Given the description of an element on the screen output the (x, y) to click on. 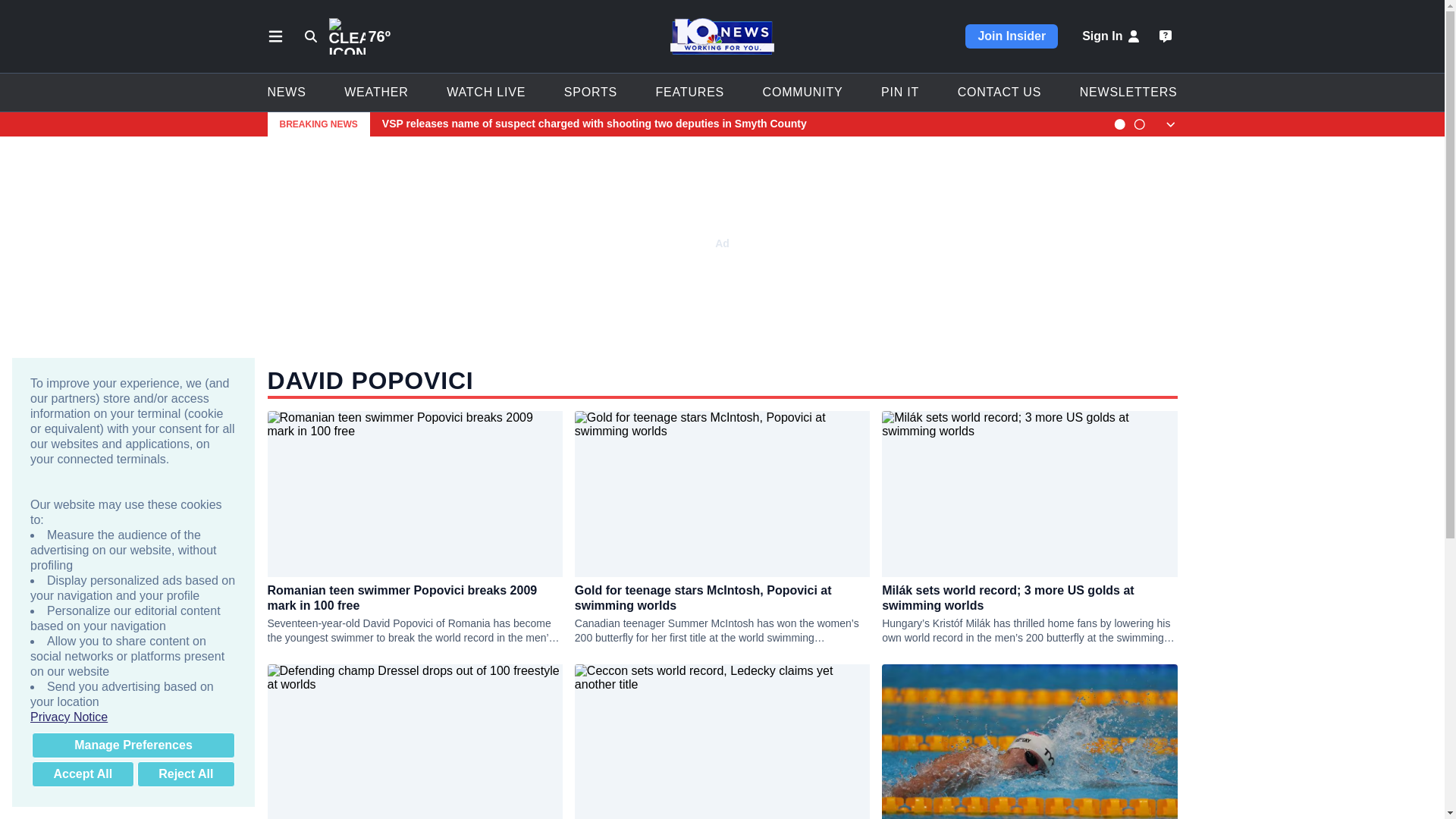
Privacy Notice (132, 717)
Gold for teenage stars McIntosh, Popovici at swimming worlds (722, 598)
Manage Preferences (133, 745)
Sign In (1111, 36)
Accept All (82, 774)
Join Insider (1011, 36)
Reject All (185, 774)
Romanian teen swimmer Popovici breaks 2009 mark in 100 free (414, 598)
